Given the description of an element on the screen output the (x, y) to click on. 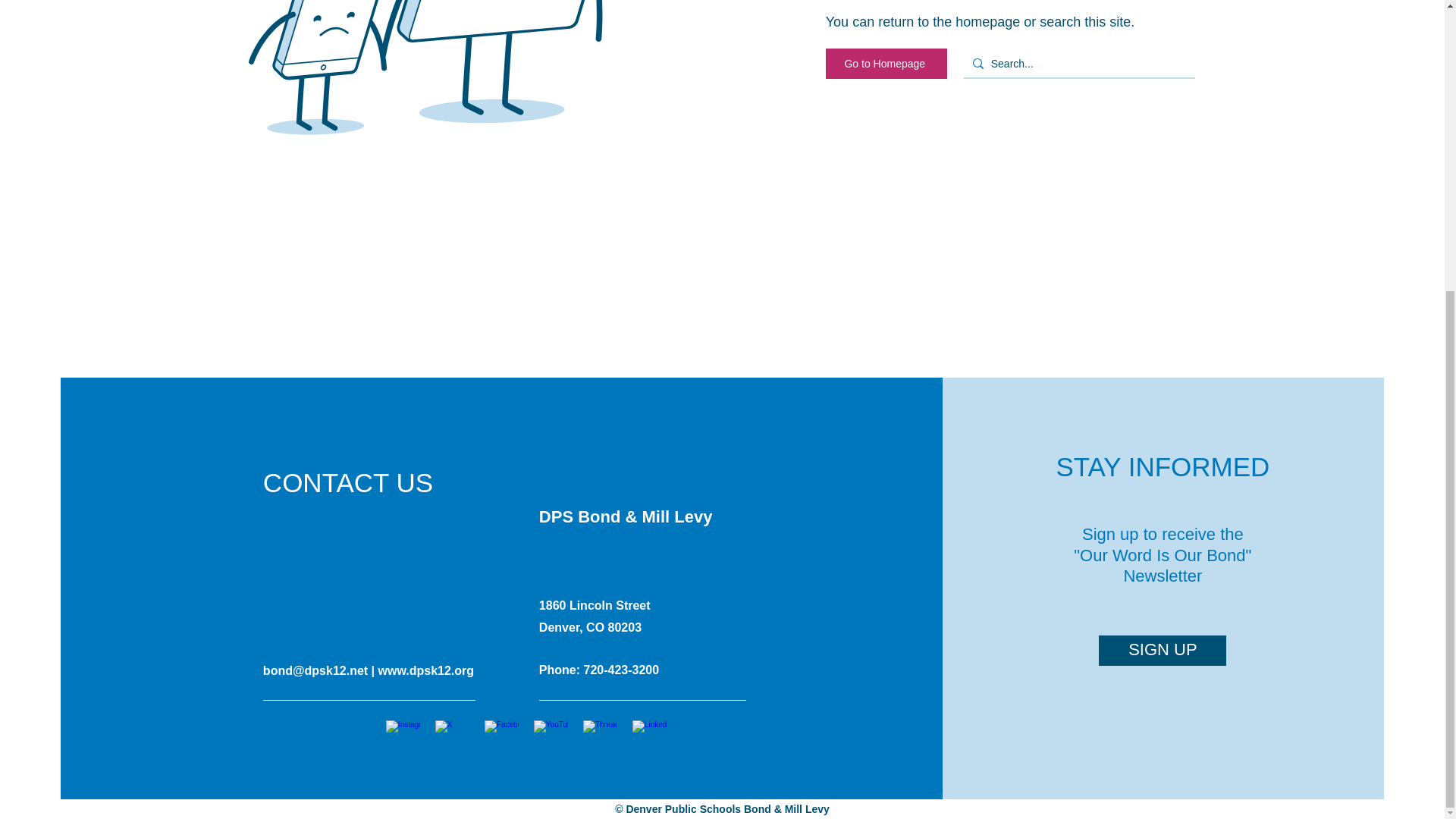
Go to Homepage (886, 63)
